Given the description of an element on the screen output the (x, y) to click on. 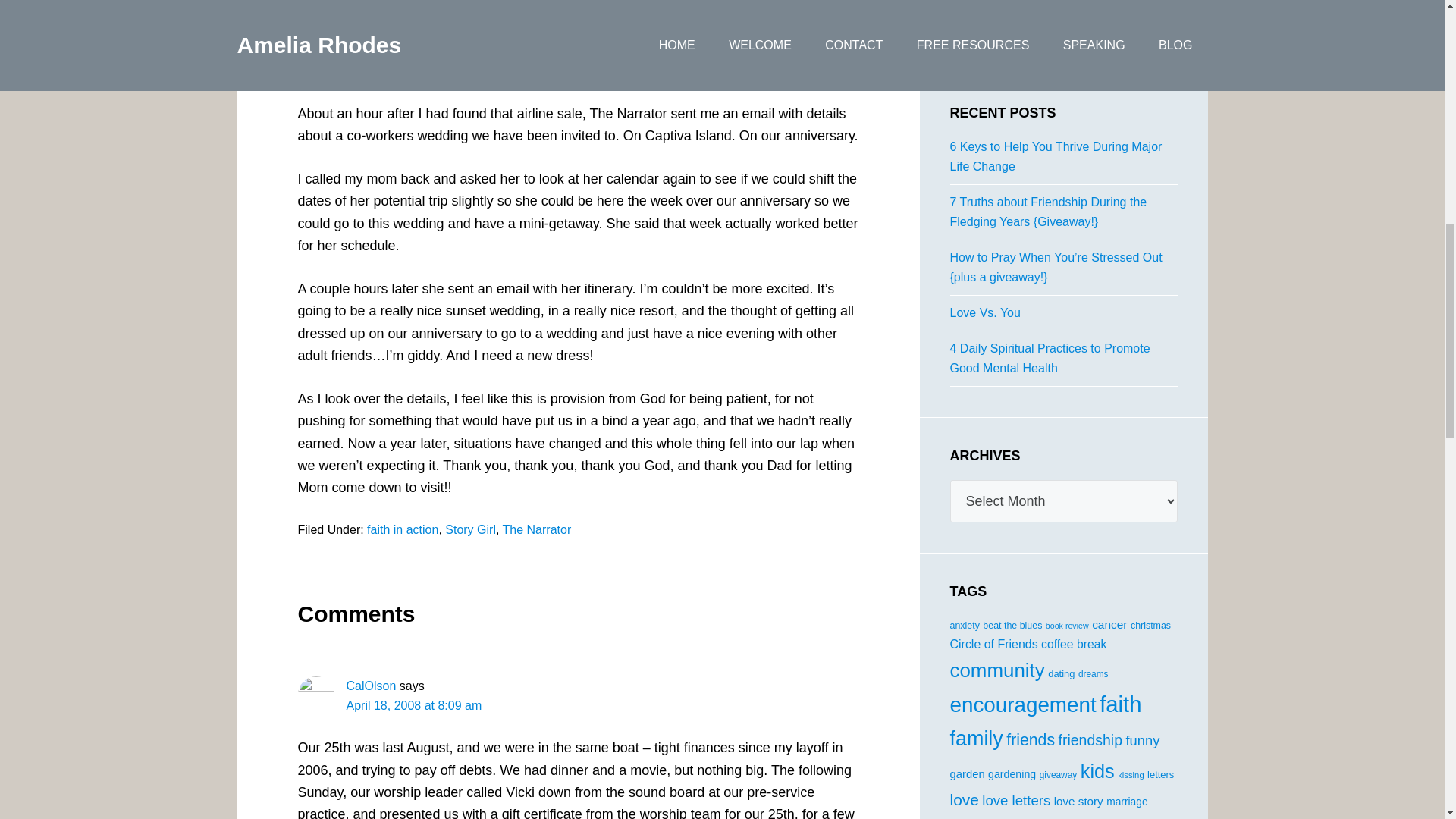
christmas (1150, 624)
4 Daily Spiritual Practices to Promote Good Mental Health (1049, 358)
dreams (1093, 674)
beat the blues (1012, 624)
CalOlson (371, 685)
community (996, 670)
6 Keys to Help You Thrive During Major Life Change (1055, 156)
The Narrator (537, 529)
coffee break (1073, 644)
dating (1061, 673)
Circle of Friends (992, 644)
Love Vs. You (984, 312)
anxiety (963, 624)
book review (1067, 624)
Story Girl (470, 529)
